Given the description of an element on the screen output the (x, y) to click on. 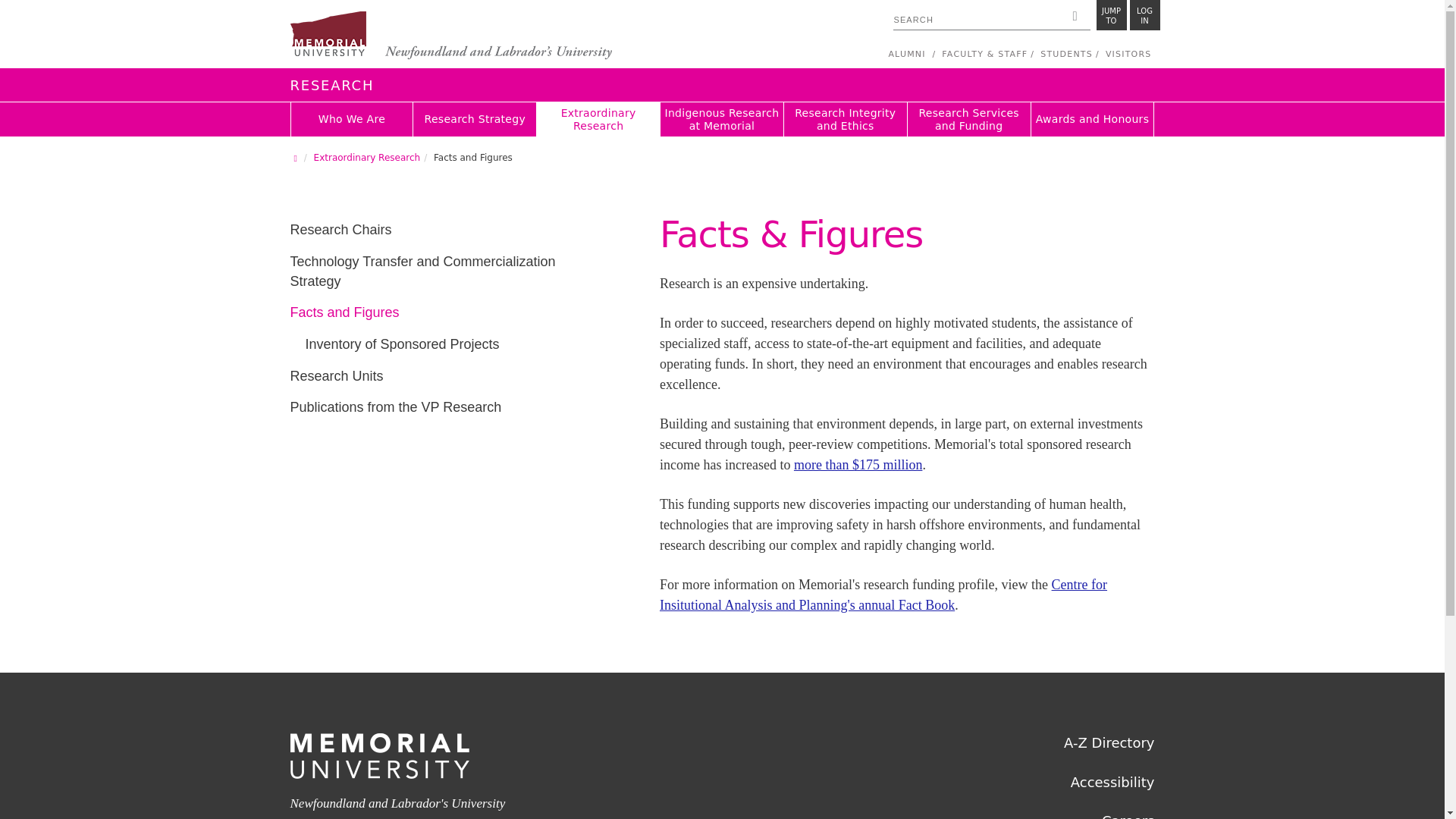
Memorial University (1144, 15)
Memorial University of Newfoundland (450, 35)
JUMP TO (450, 35)
